Given the description of an element on the screen output the (x, y) to click on. 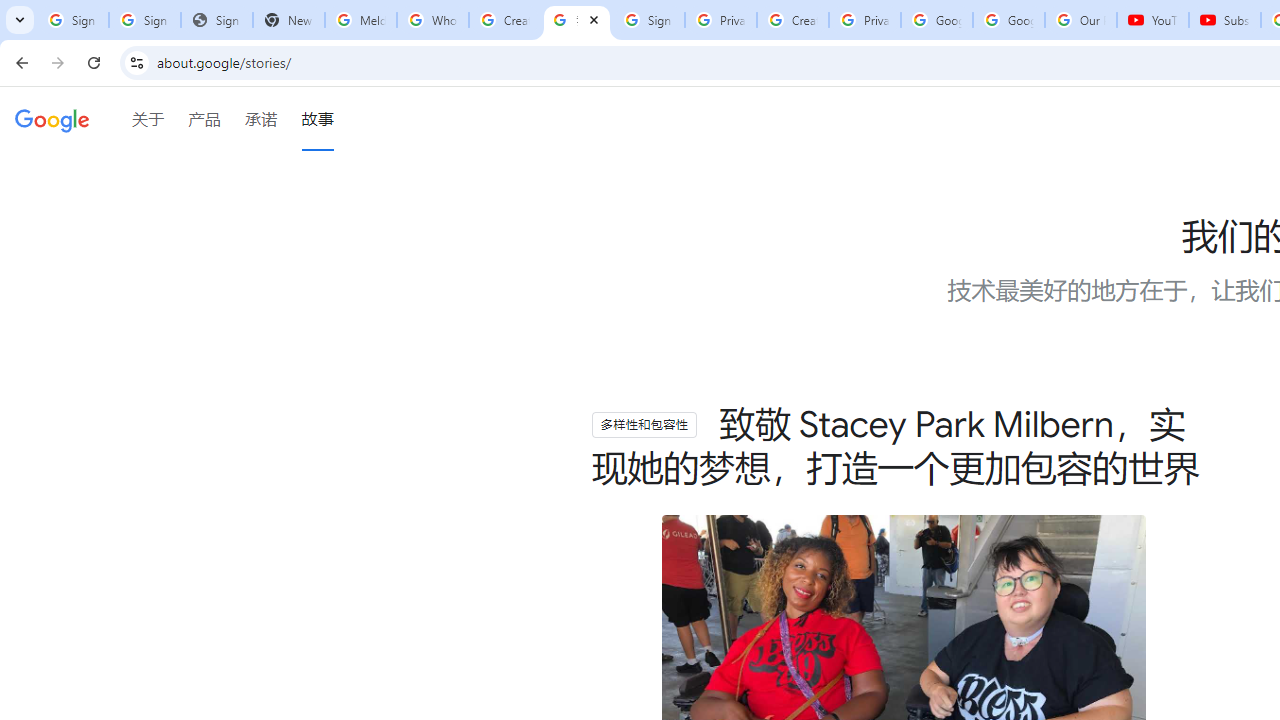
Google Account (1008, 20)
Who is my administrator? - Google Account Help (432, 20)
Sign In - USA TODAY (216, 20)
Sign in - Google Accounts (72, 20)
Create your Google Account (792, 20)
New Tab (289, 20)
Subscriptions - YouTube (1224, 20)
